Given the description of an element on the screen output the (x, y) to click on. 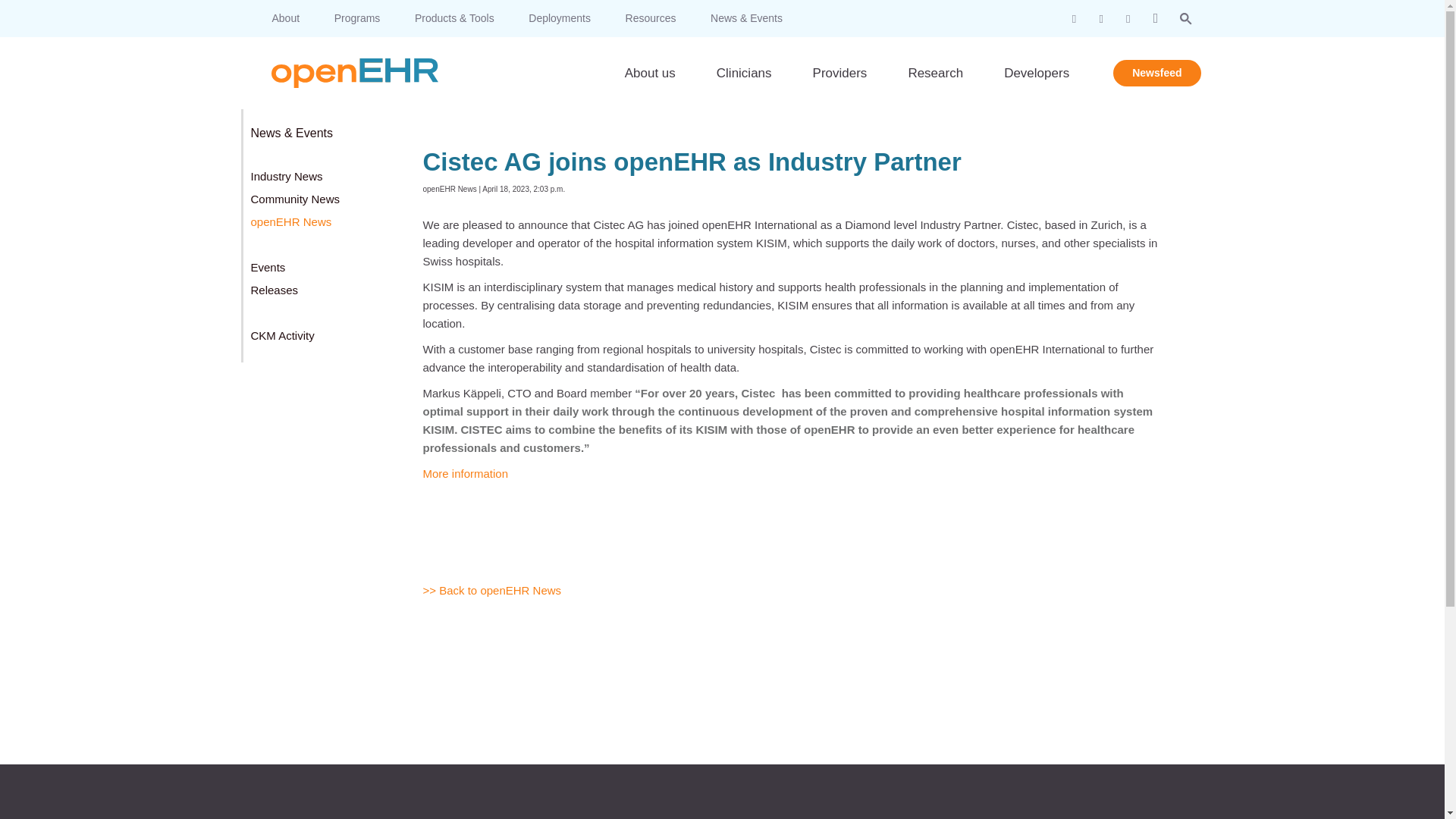
Programs (358, 18)
About (287, 18)
